Given the description of an element on the screen output the (x, y) to click on. 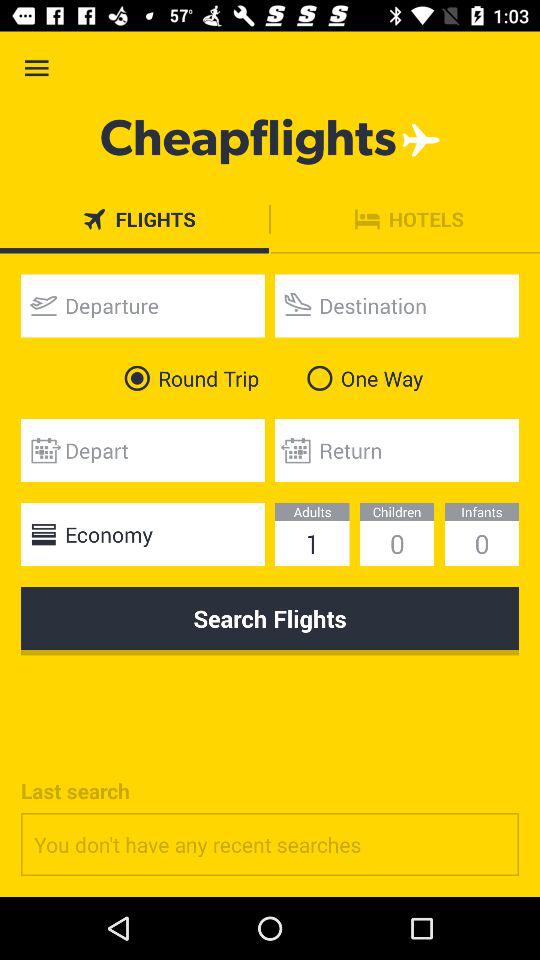
turn on the item to the right of the round trip item (360, 378)
